Given the description of an element on the screen output the (x, y) to click on. 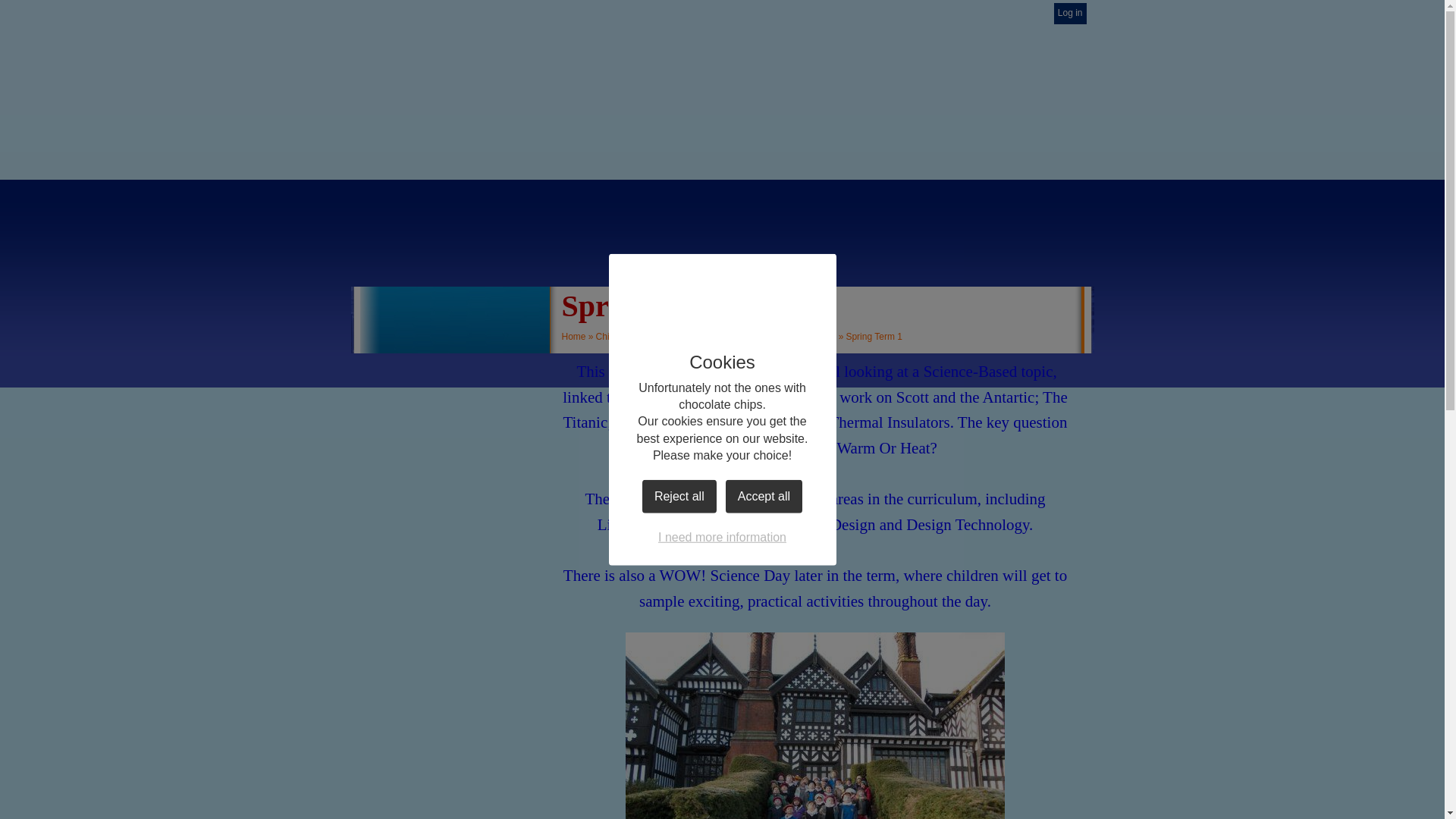
Home Page (721, 67)
Children (612, 336)
Log in (1070, 13)
About Us (453, 310)
Class Pages (664, 336)
Class Pages: 2012-2013 (749, 336)
Home (453, 251)
Home Page (721, 67)
Year 4 (822, 336)
Spring Term 1 (873, 336)
Home (572, 336)
